Given the description of an element on the screen output the (x, y) to click on. 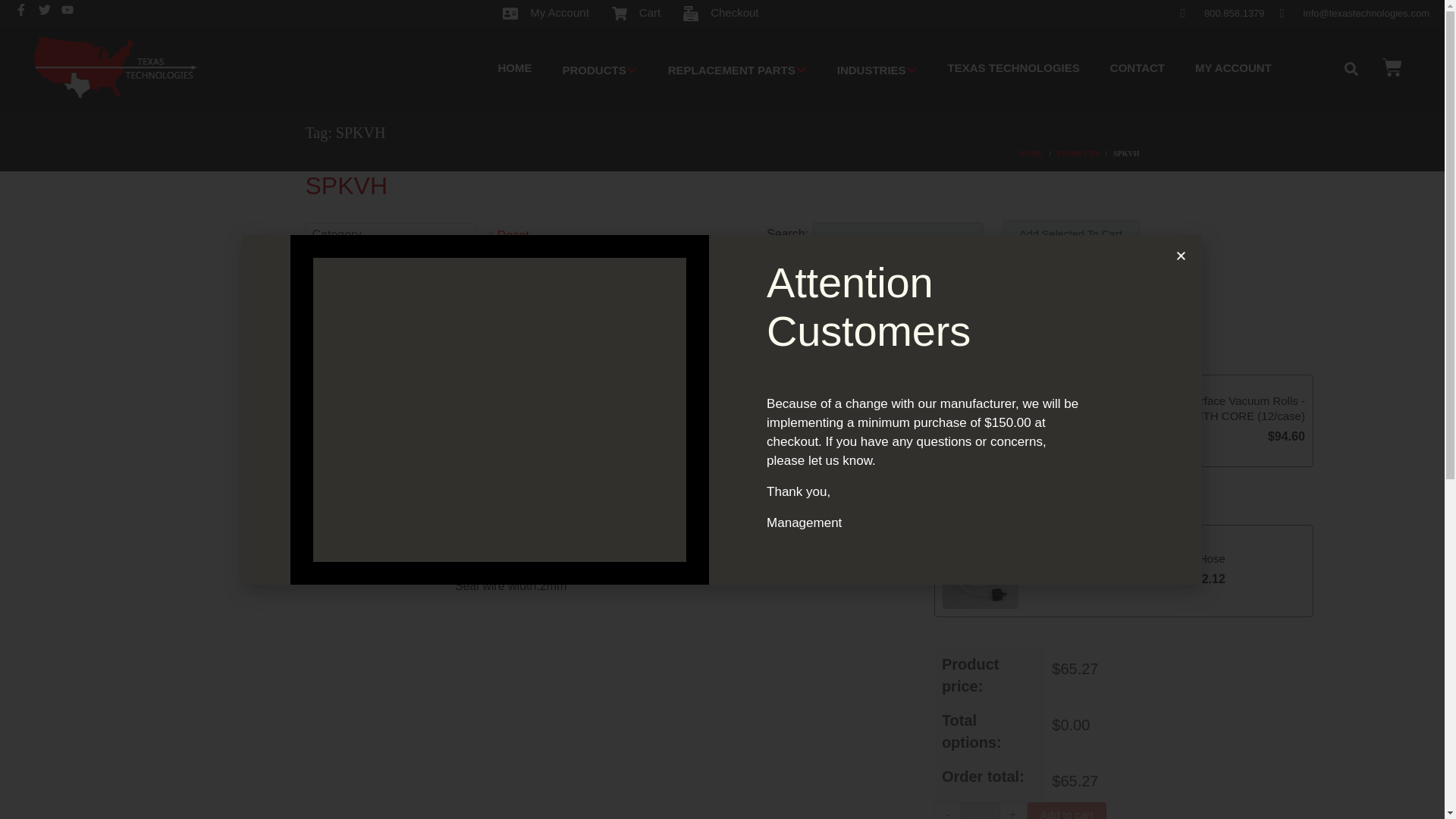
Cart (636, 13)
Add Selected To Cart (1071, 234)
1710 (1122, 329)
My Account (545, 13)
800.858.1379 (1222, 13)
PRODUCTS (599, 68)
Checkout (720, 13)
